Given the description of an element on the screen output the (x, y) to click on. 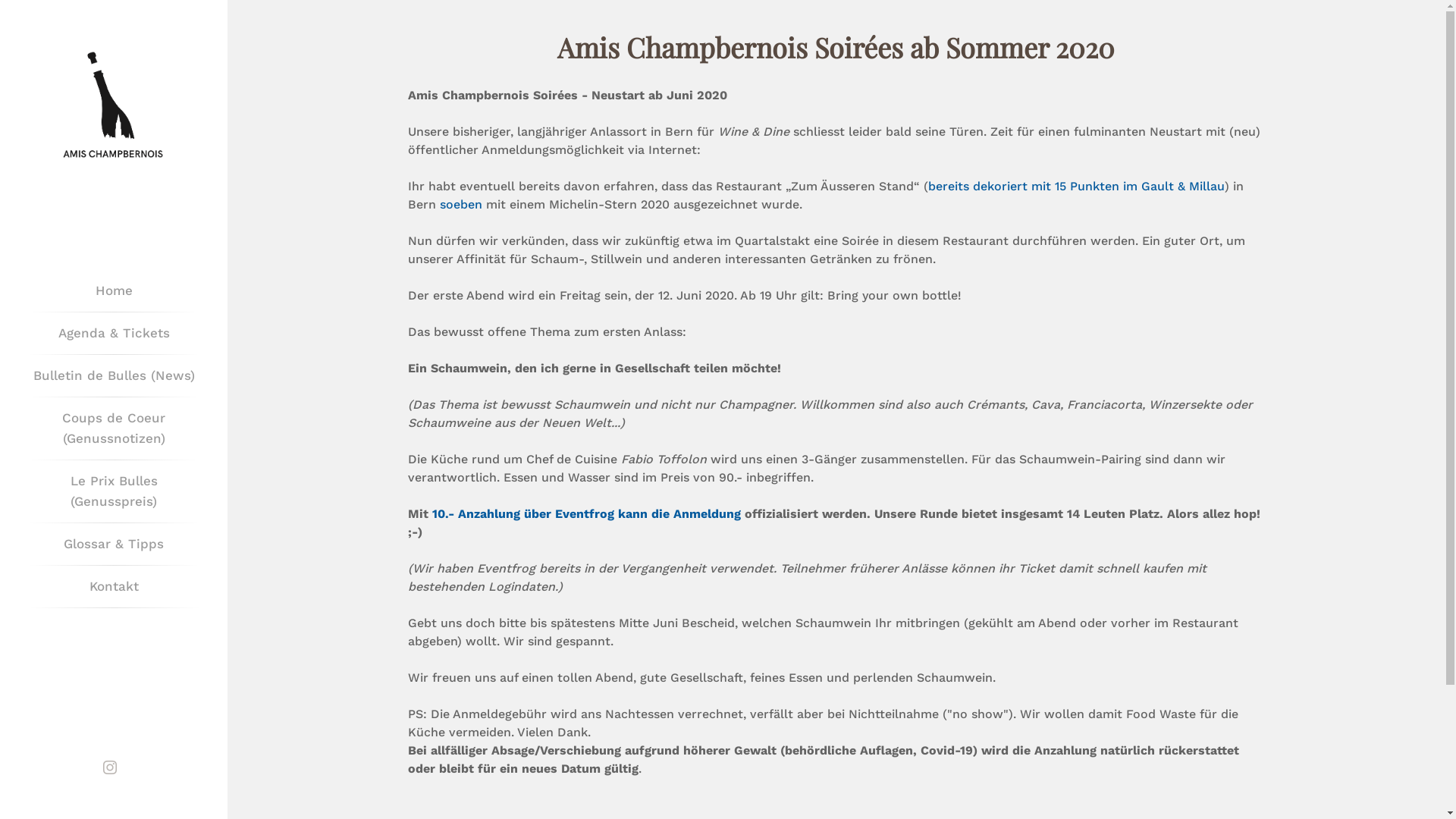
Le Prix Bulles (Genusspreis) Element type: text (113, 491)
Kontakt Element type: text (113, 586)
bereits dekoriert mit 15 Punkten im Gault & Millau Element type: text (1076, 185)
Bulletin de Bulles (News) Element type: text (113, 375)
Agenda & Tickets Element type: text (113, 333)
Glossar & Tipps Element type: text (113, 543)
Coups de Coeur (Genussnotizen) Element type: text (113, 428)
soeben Element type: text (460, 204)
Home Element type: text (113, 290)
Amis Champbernois Element type: hover (113, 109)
